Given the description of an element on the screen output the (x, y) to click on. 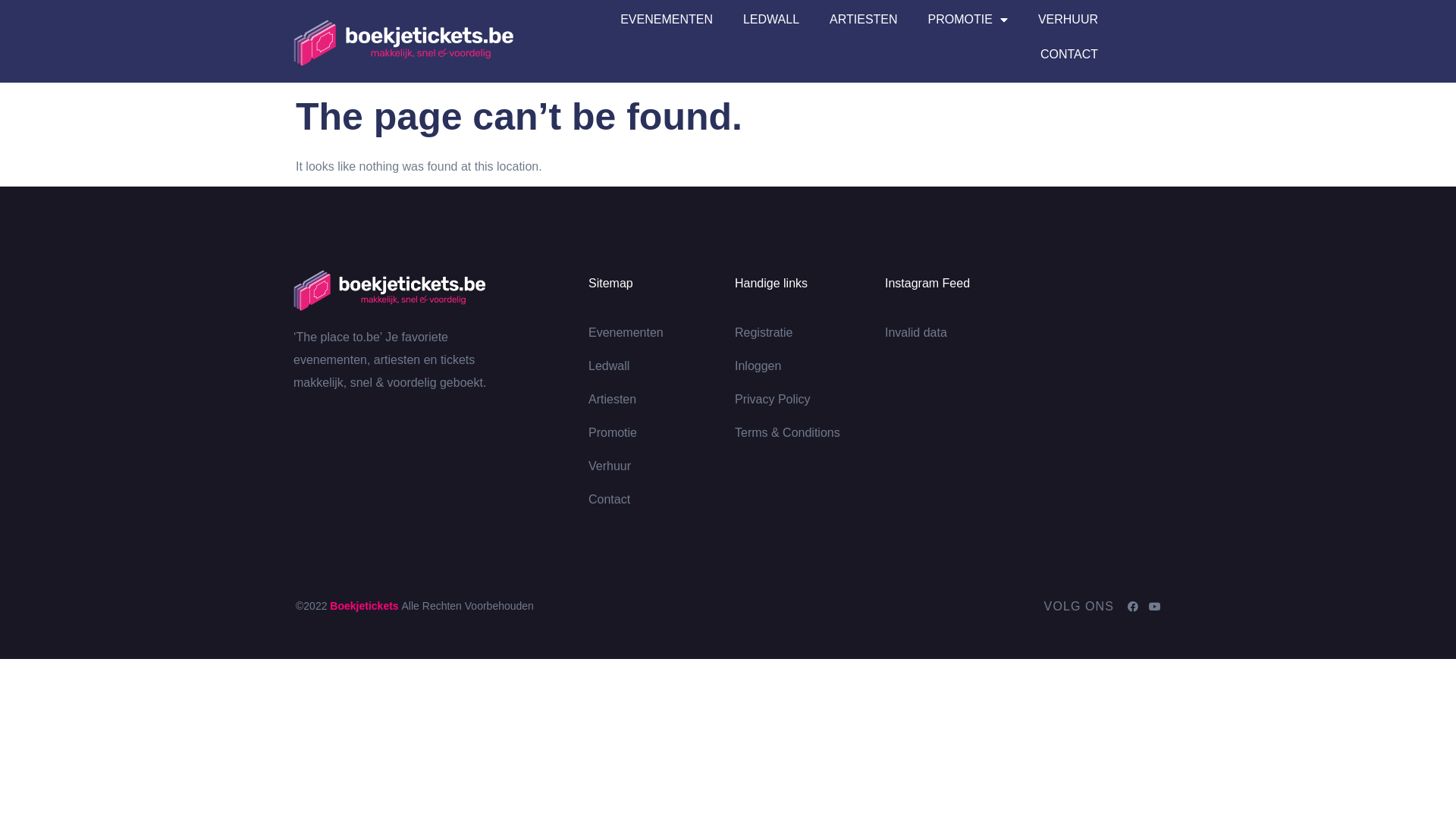
LEDWALL Element type: text (771, 19)
Contact Element type: text (661, 499)
Ledwall Element type: text (661, 366)
Registratie Element type: text (809, 332)
Terms & Conditions Element type: text (809, 432)
EVENEMENTEN Element type: text (666, 19)
PROMOTIE Element type: text (967, 19)
Evenementen Element type: text (661, 332)
CONTACT Element type: text (1069, 54)
Promotie Element type: text (661, 432)
VERHUUR Element type: text (1067, 19)
ARTIESTEN Element type: text (863, 19)
Inloggen Element type: text (809, 366)
Artiesten Element type: text (661, 399)
Privacy Policy Element type: text (809, 399)
Verhuur Element type: text (661, 466)
